Given the description of an element on the screen output the (x, y) to click on. 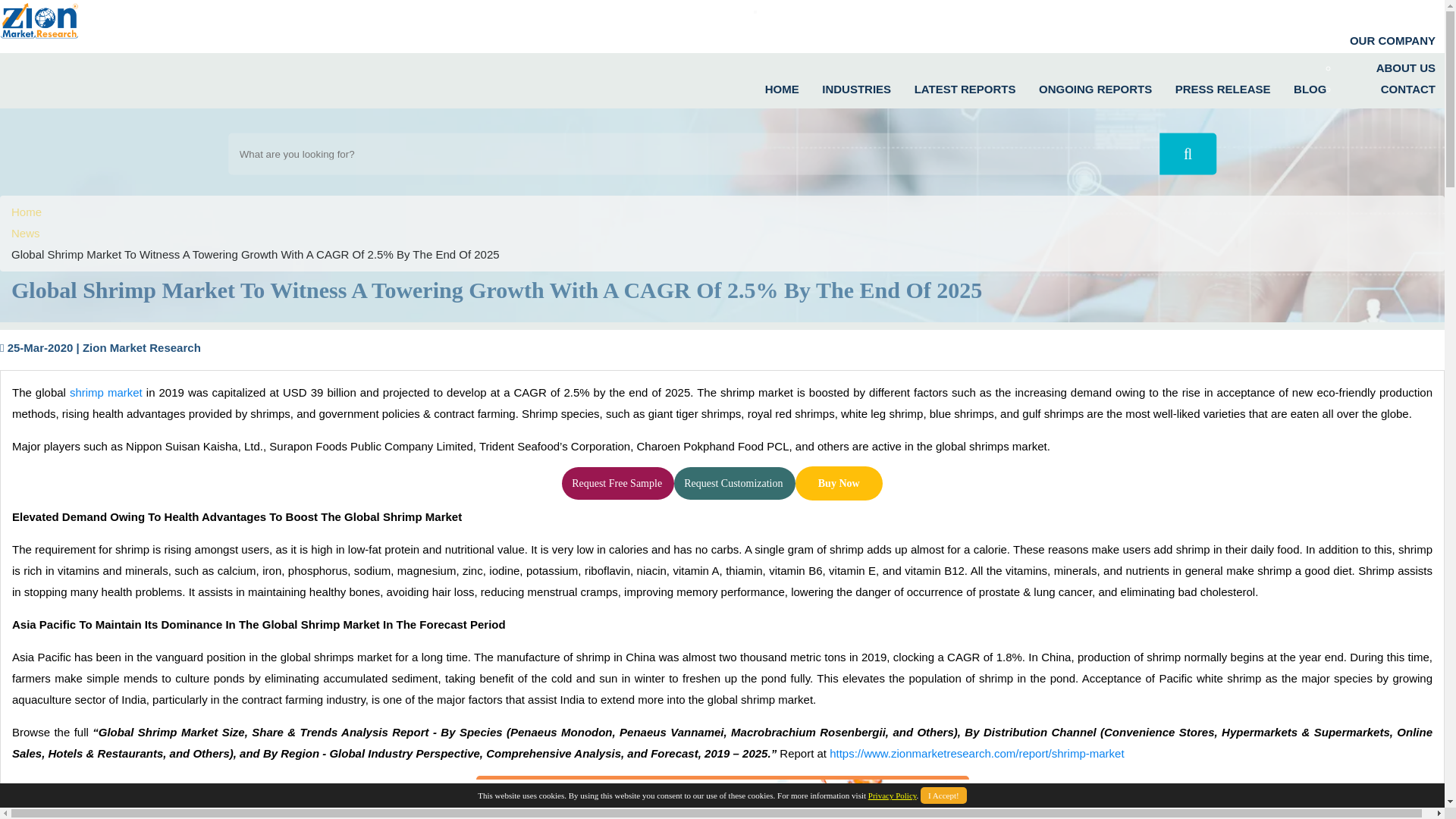
shrimp market (105, 391)
News (25, 232)
ONGOING REPORTS (1093, 84)
Request Free Sample (618, 483)
ABOUT US (1404, 63)
BLOG (1308, 84)
LATEST REPORTS (963, 84)
OUR COMPANY (1391, 36)
Request Sample (618, 483)
PRESS RELEASE (1221, 84)
INDUSTRIES (854, 84)
Home (26, 211)
Buy Now (838, 483)
Request Customization (734, 483)
Request Customisation (734, 483)
